Given the description of an element on the screen output the (x, y) to click on. 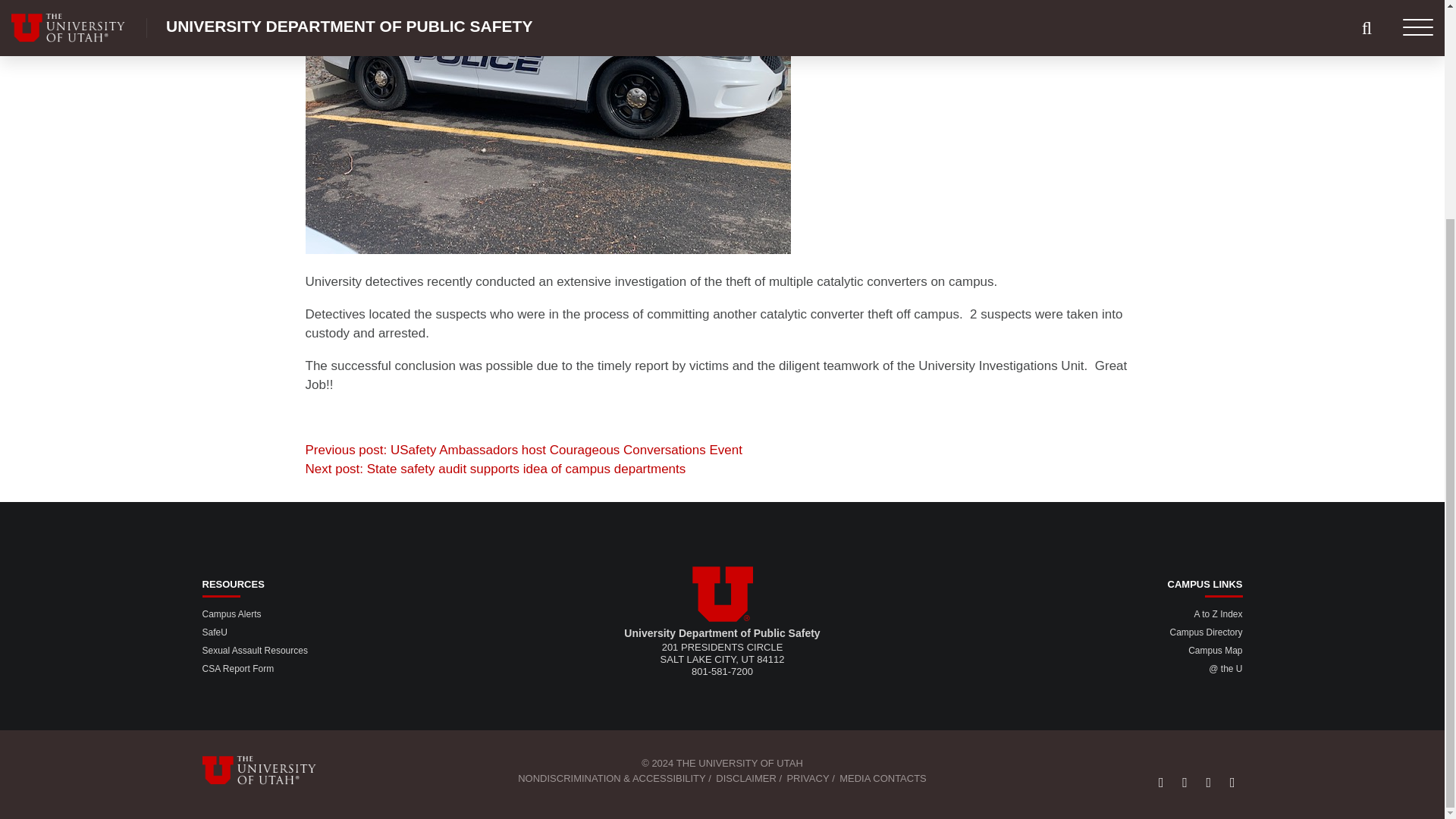
University of Utah (269, 769)
Campus Alerts (231, 614)
University of Utah (721, 593)
